Given the description of an element on the screen output the (x, y) to click on. 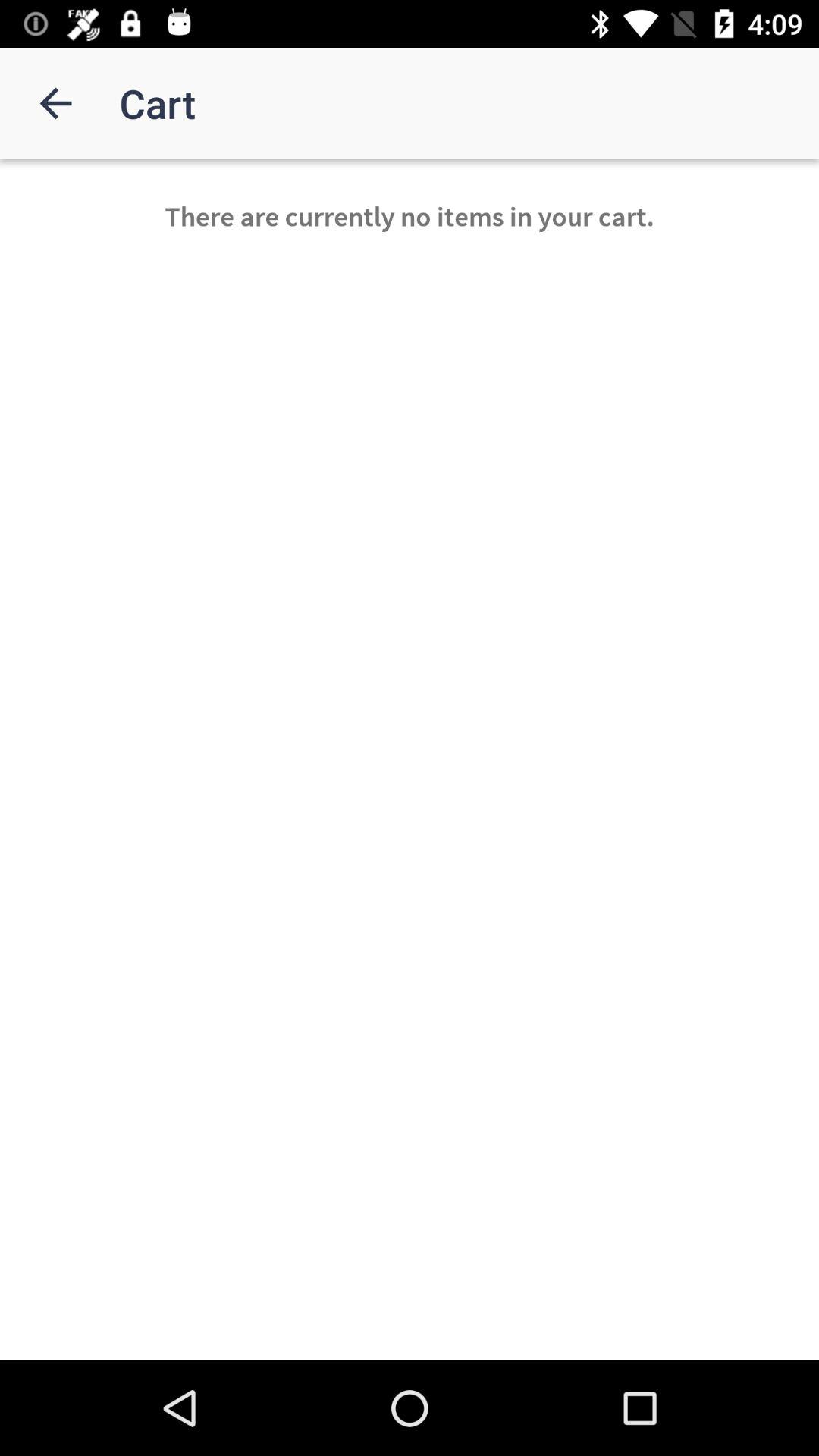
open the icon to the left of cart icon (55, 103)
